Given the description of an element on the screen output the (x, y) to click on. 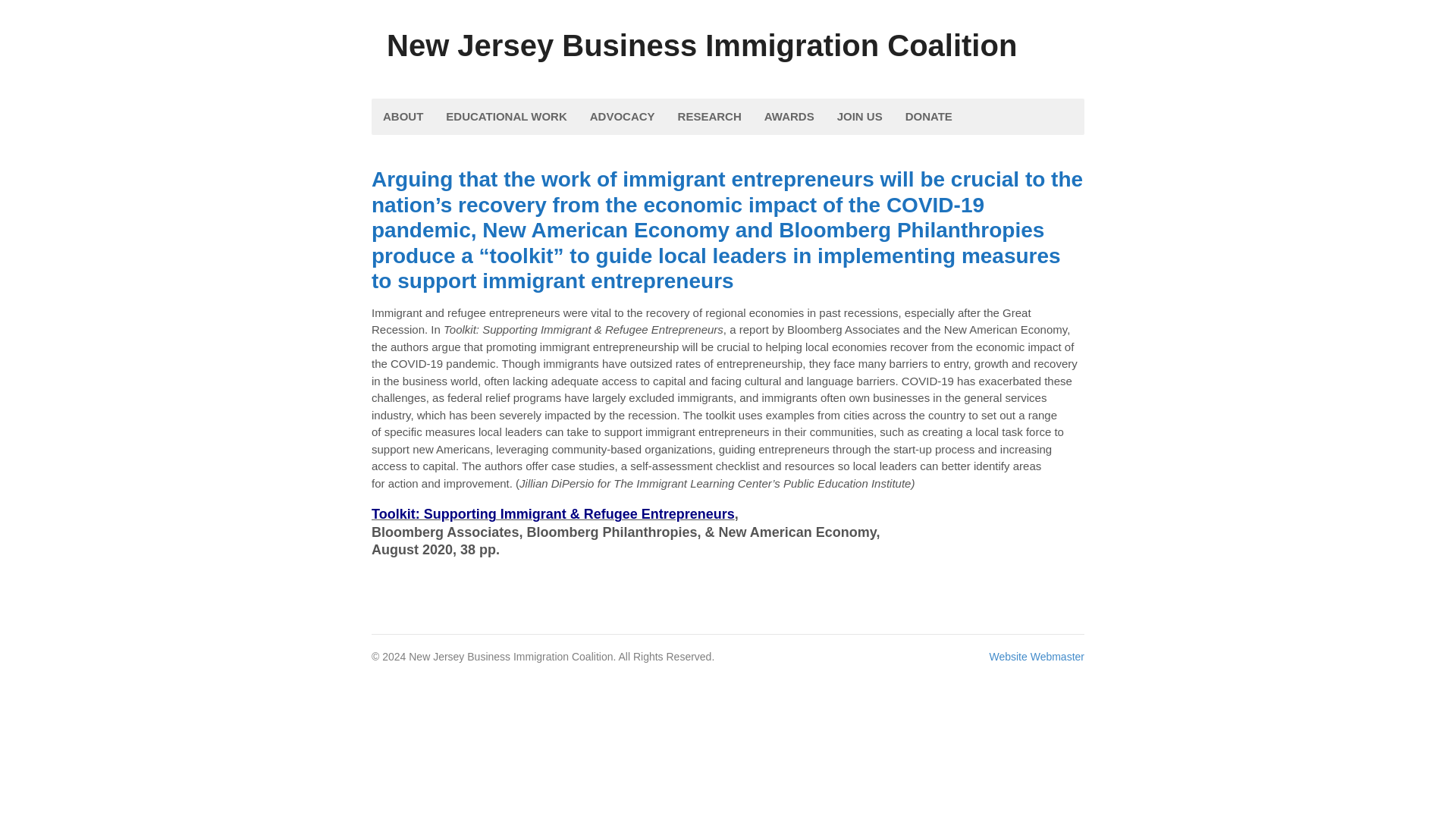
RESEARCH (709, 116)
ADVOCACY (622, 116)
ABOUT (402, 116)
JOIN US (859, 116)
DONATE (928, 116)
New Jersey Business Immigration Coalition (701, 45)
EDUCATIONAL WORK (505, 116)
AWARDS (788, 116)
Website Webmaster (1036, 656)
